Given the description of an element on the screen output the (x, y) to click on. 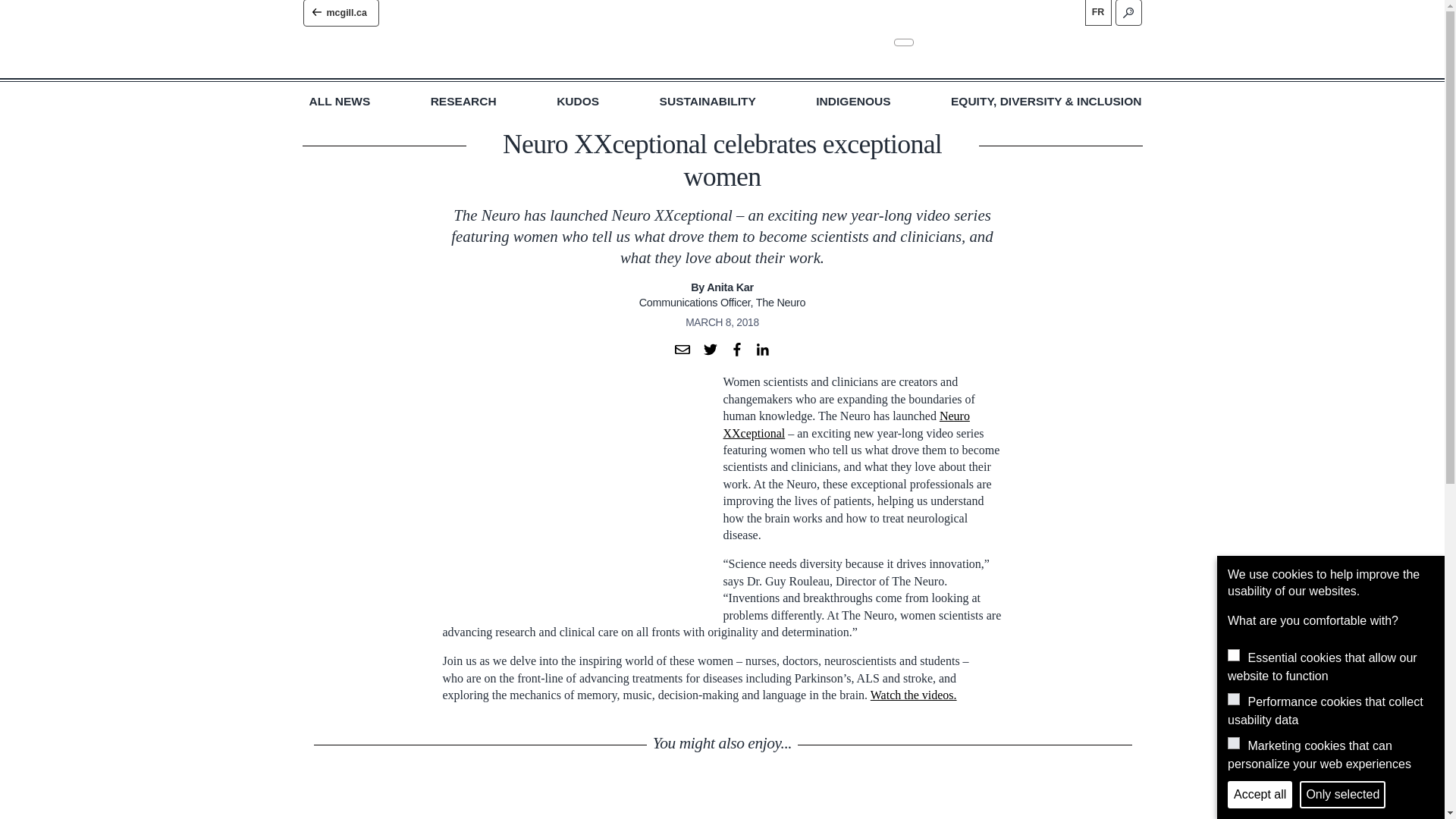
Spotlight on neuroscientist Heidi McBride (407, 801)
Spotlight on Jessica Dumoulin, ICU nurse (1037, 801)
mcgill.ca (340, 13)
performance (1233, 698)
SUSTAINABILITY (707, 101)
RESEARCH (463, 101)
Neuro XXceptional (846, 423)
Watch the videos. (913, 694)
marketing (1233, 743)
KUDOS (576, 101)
In conversation with neuroscientist Dr. Nguyen-Vi Mohamed (826, 801)
FR (1097, 12)
required (1233, 654)
ALL NEWS (339, 101)
INDIGENOUS (852, 101)
